Given the description of an element on the screen output the (x, y) to click on. 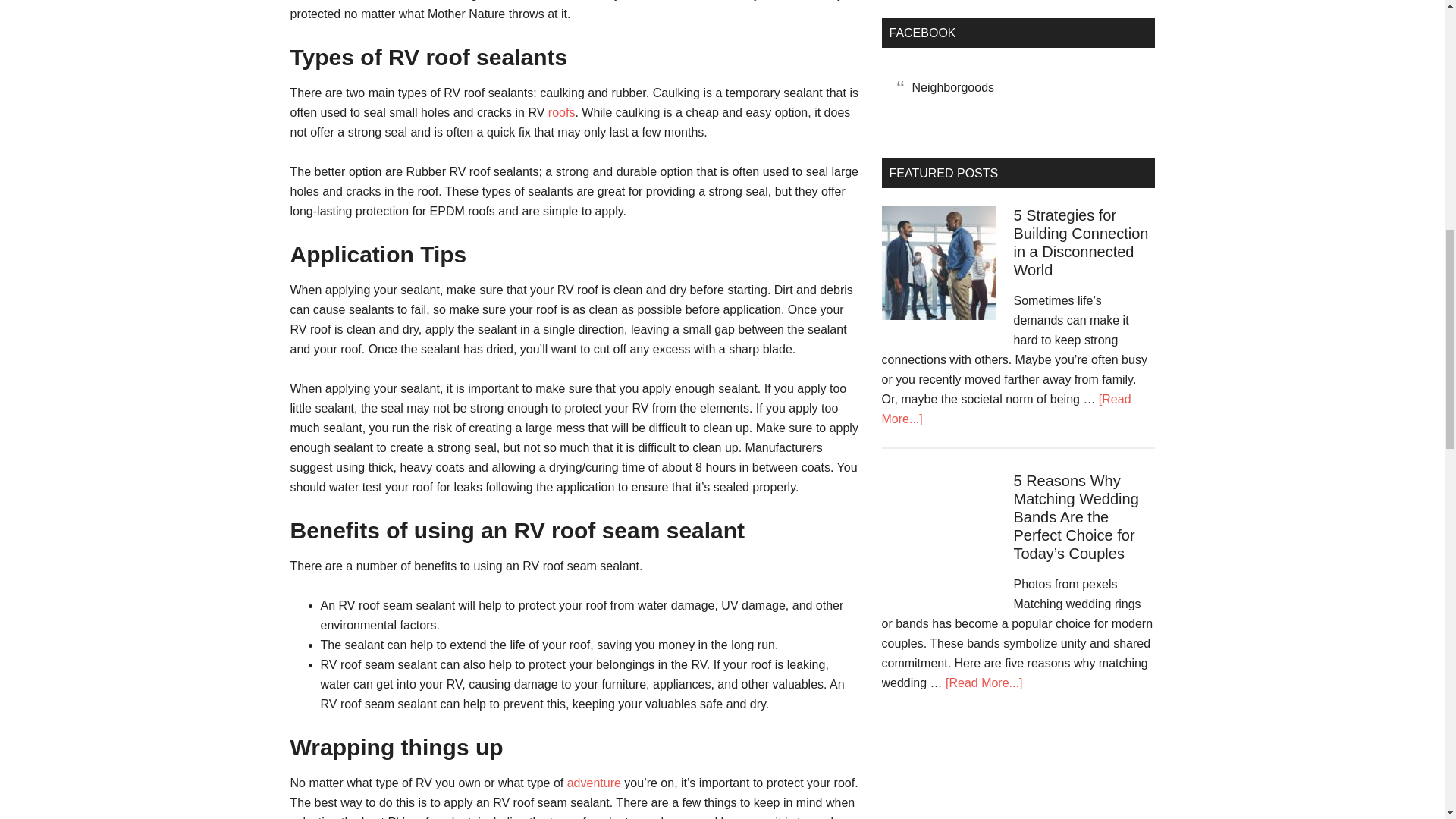
roofs (561, 112)
adventure (595, 782)
5 Strategies for Building Connection in a Disconnected World (1080, 242)
Neighborgoods (952, 87)
